Given the description of an element on the screen output the (x, y) to click on. 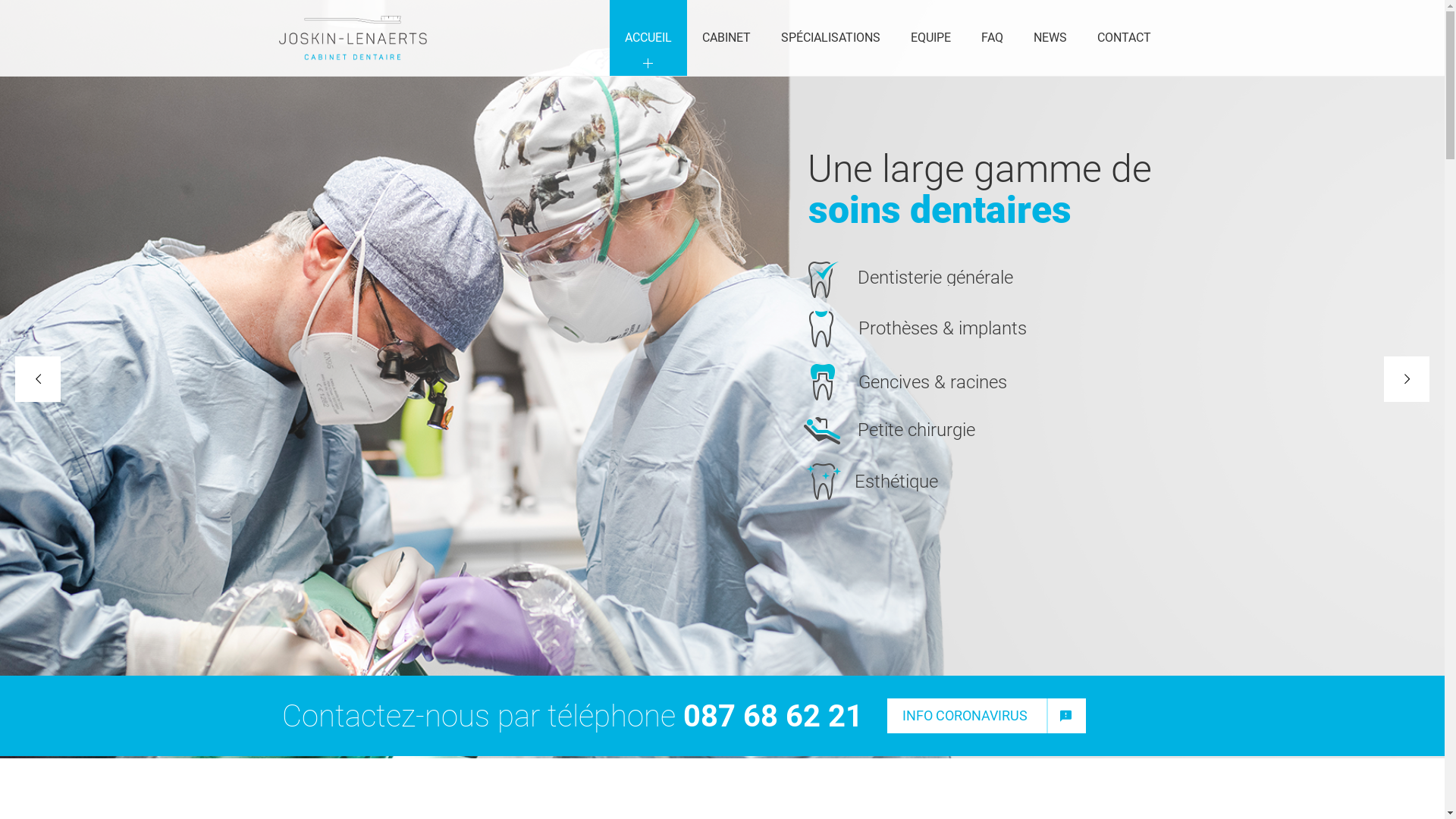
087 68 62 21 Element type: text (772, 715)
EQUIPE Element type: text (929, 37)
CONTACT Element type: text (1123, 37)
FAQ Element type: text (992, 37)
NEWS Element type: text (1049, 37)
INFO CORONAVIRUS Element type: text (986, 715)
CABINET Element type: text (726, 37)
ACCUEIL Element type: text (648, 37)
Joskin & Lenaerts Element type: hover (353, 37)
